Given the description of an element on the screen output the (x, y) to click on. 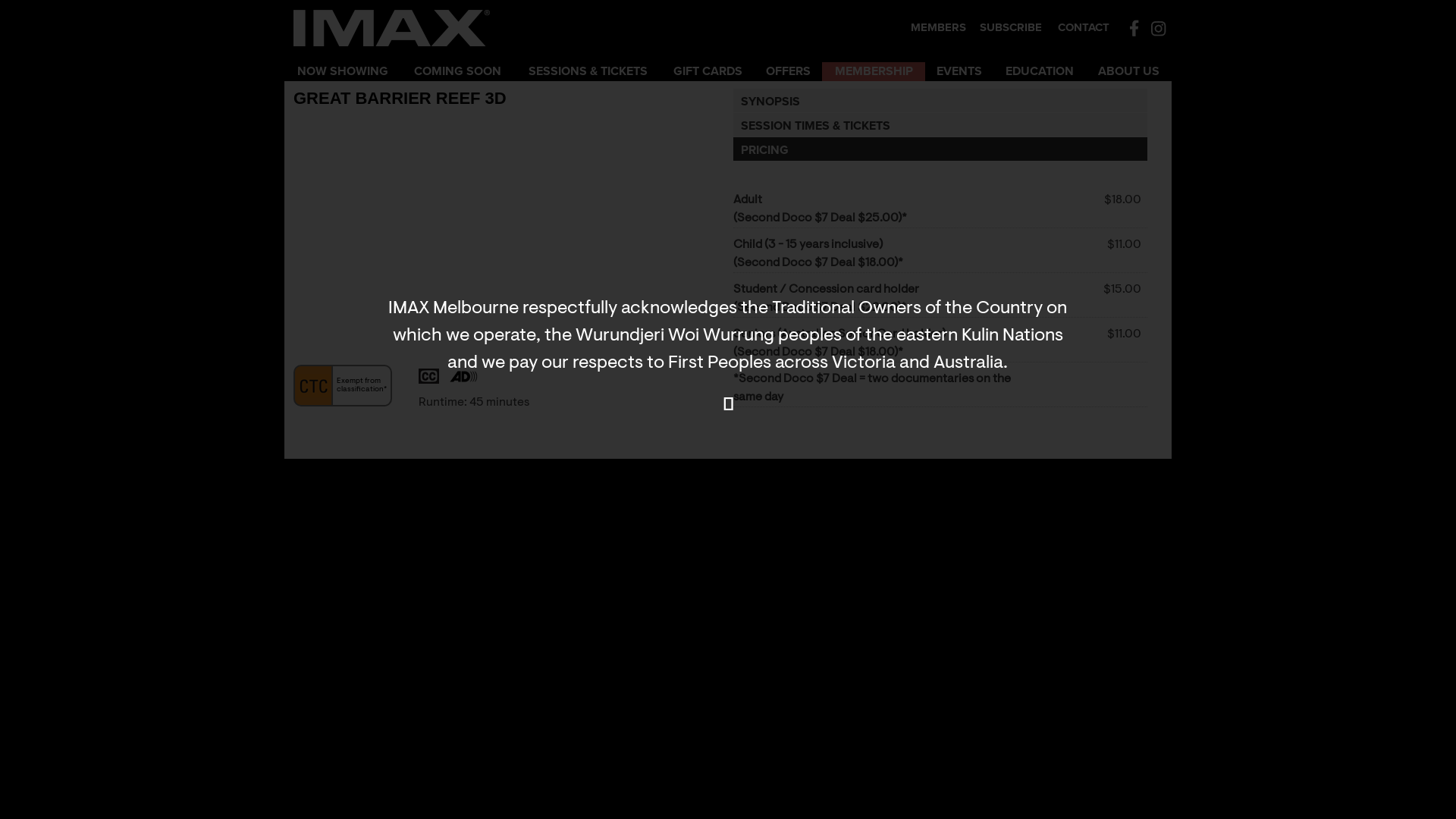
NOW SHOWING Element type: text (342, 71)
CONTACT Element type: text (1083, 27)
MEMBERSHIP Element type: text (873, 71)
COMING SOON Element type: text (457, 71)
MEMBERS Element type: text (938, 27)
SYNOPSIS Element type: text (940, 100)
OFFERS Element type: text (788, 71)
EVENTS Element type: text (959, 71)
ABOUT US Element type: text (1128, 71)
SESSIONS & TICKETS Element type: text (587, 71)
PRICING Element type: text (940, 148)
EDUCATION Element type: text (1039, 71)
SESSION TIMES & TICKETS Element type: text (940, 124)
SUBSCRIBE Element type: text (1010, 27)
GIFT CARDS Element type: text (707, 71)
